Given the description of an element on the screen output the (x, y) to click on. 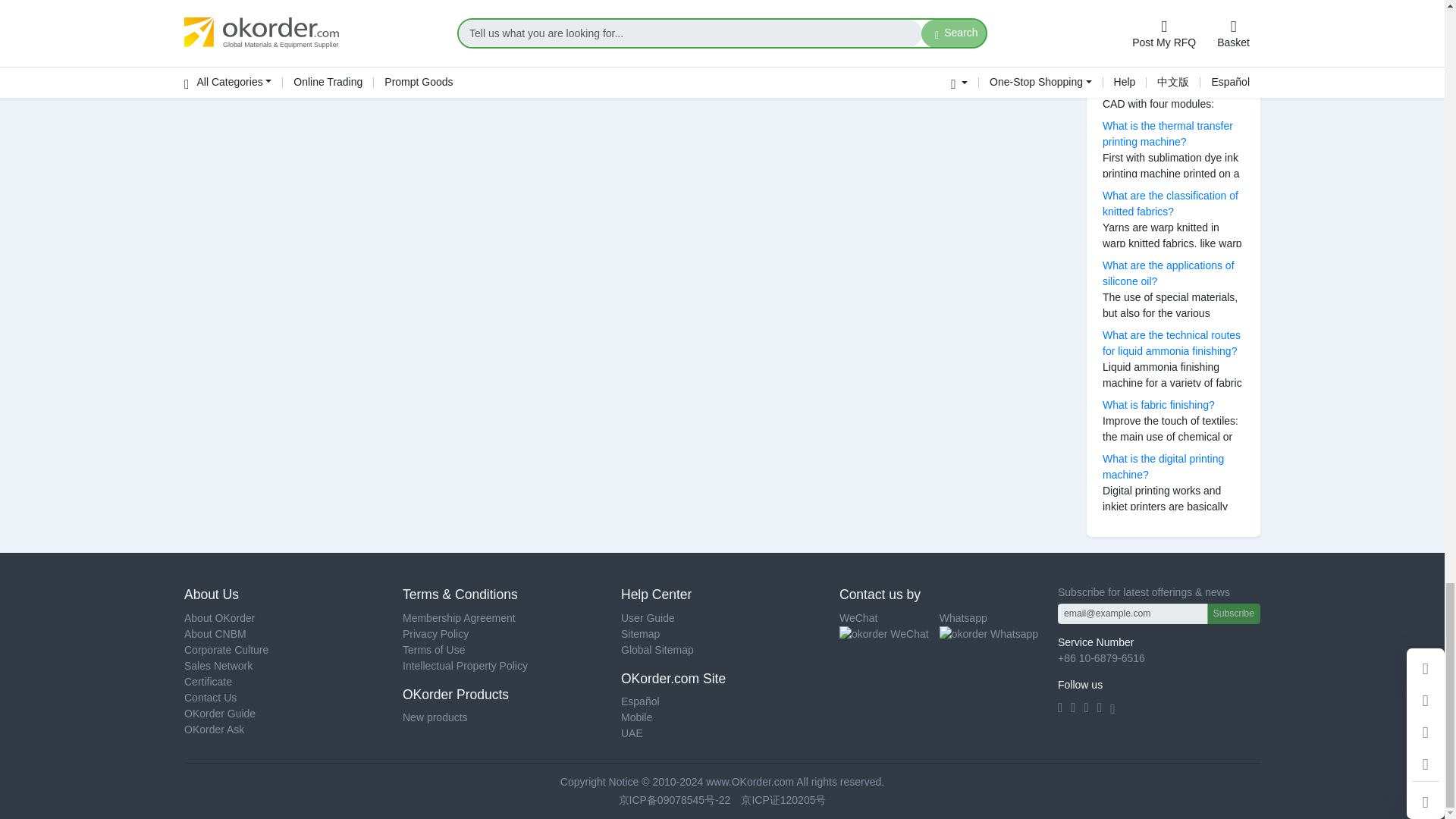
Subscribe (1233, 613)
